Given the description of an element on the screen output the (x, y) to click on. 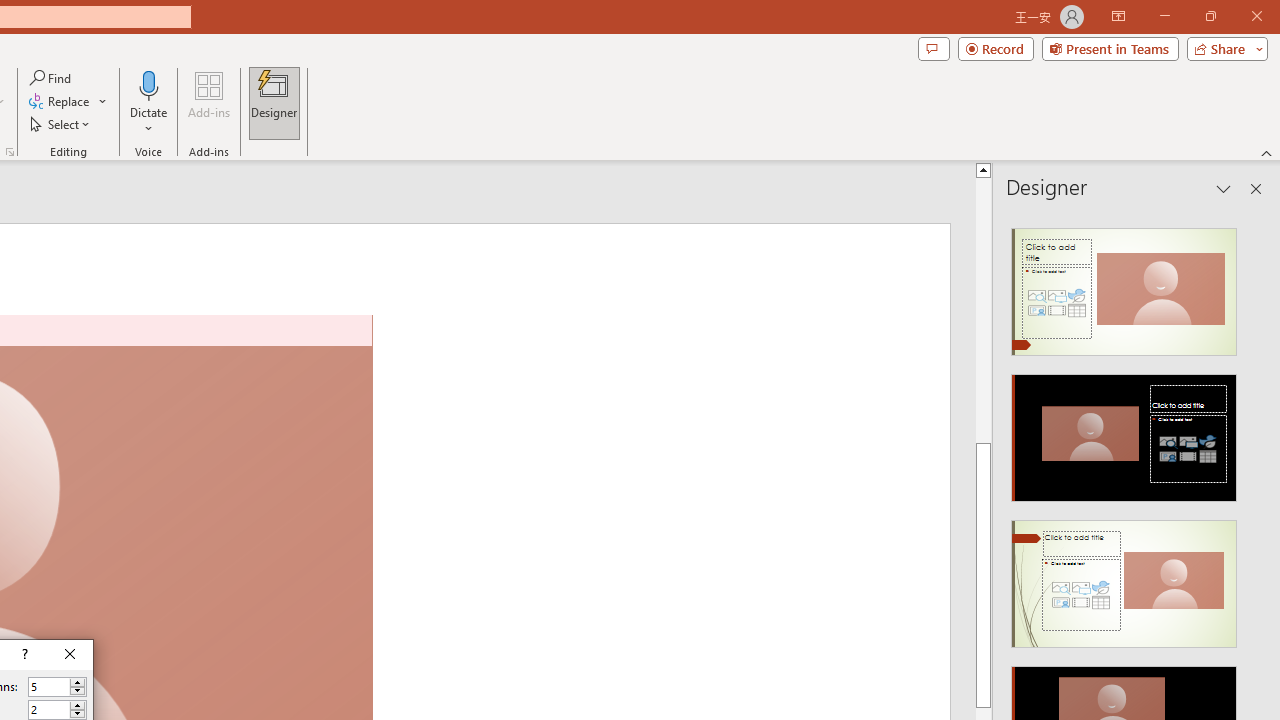
Number of rows (49, 710)
Number of columns (57, 686)
